Given the description of an element on the screen output the (x, y) to click on. 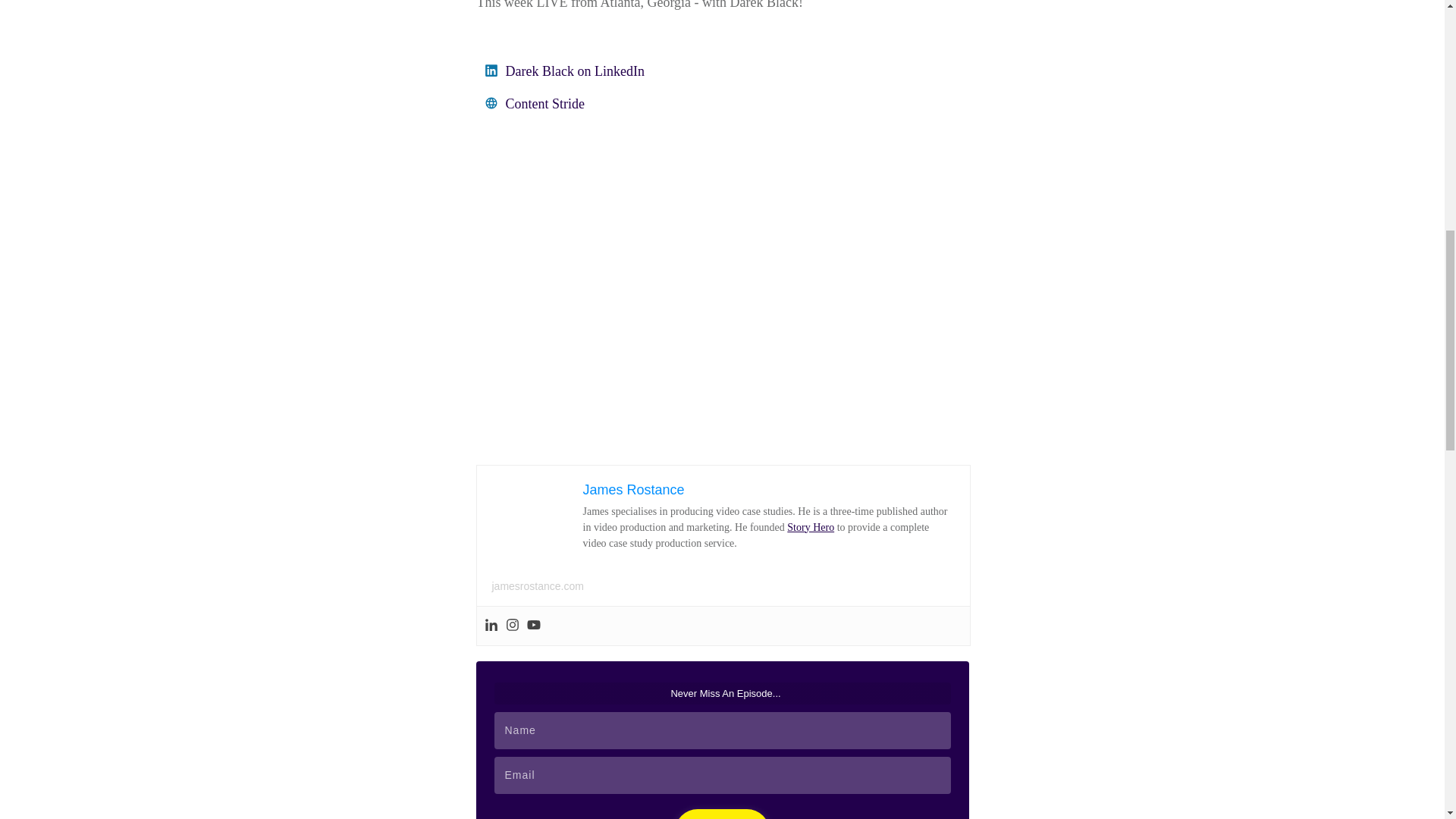
Story Hero (810, 527)
jamesrostance.com (537, 585)
Darek Black on LinkedIn (574, 70)
Content Stride (545, 103)
James Rostance (633, 489)
Sign Up (722, 814)
